Given the description of an element on the screen output the (x, y) to click on. 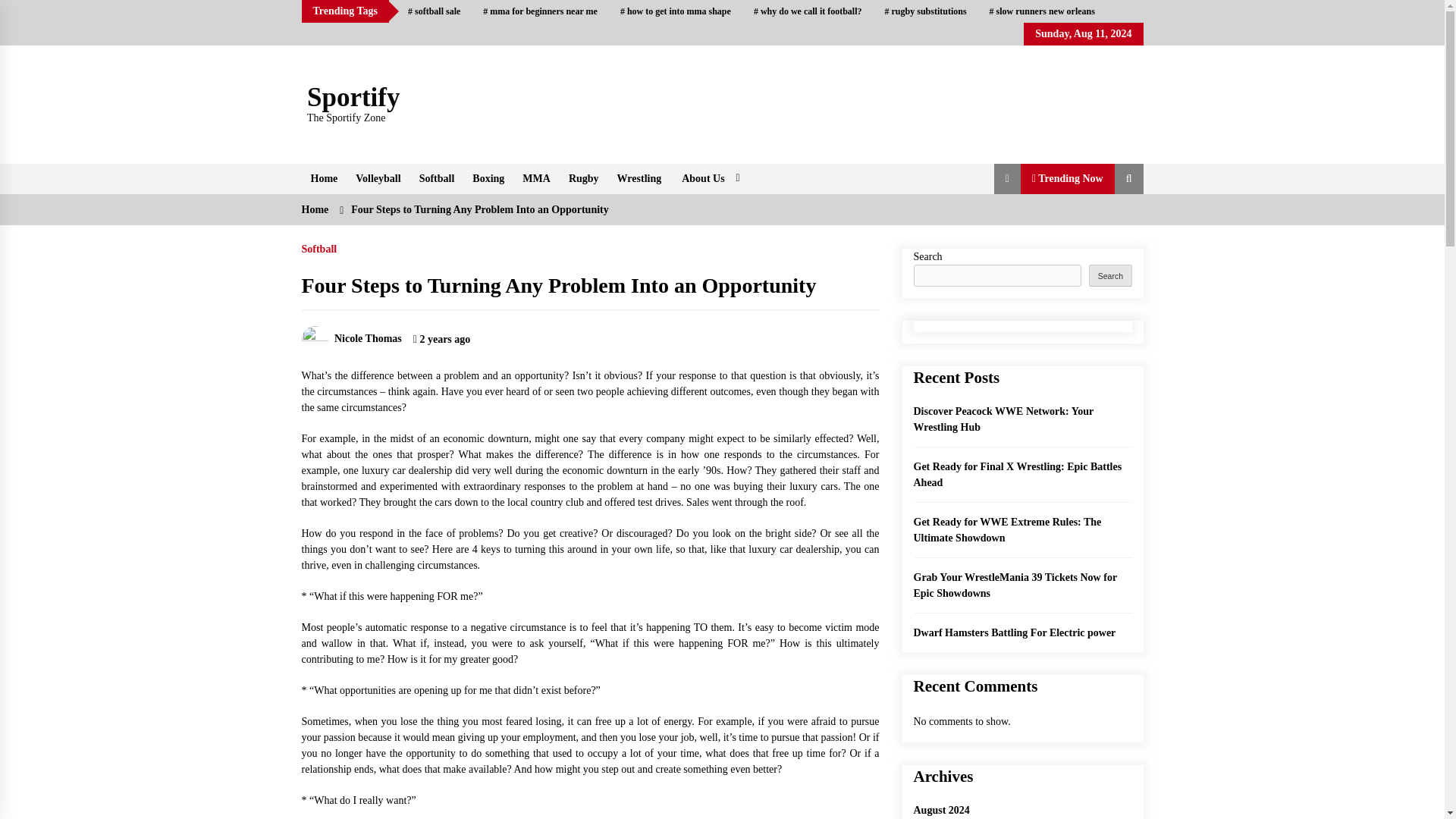
Boxing (488, 178)
rugby substitutions (925, 11)
Sportify (353, 97)
Rugby (583, 178)
Wrestling (639, 178)
why do we call it football? (807, 11)
softball sale (433, 11)
how to get into mma shape (675, 11)
Volleyball (377, 178)
mma for beginners near me (539, 11)
